Given the description of an element on the screen output the (x, y) to click on. 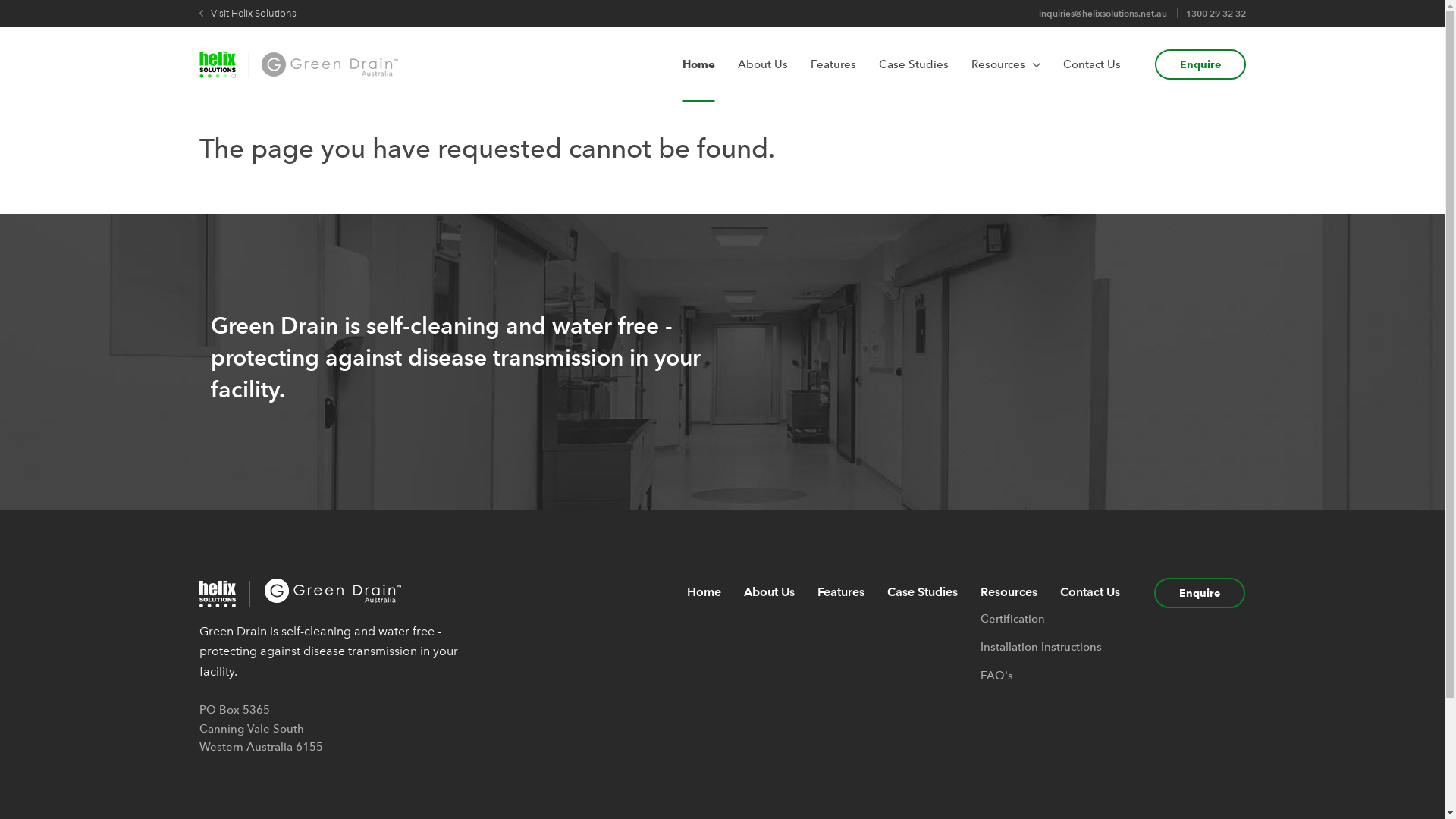
inquiries@helixsolutions.net.au Element type: text (1102, 13)
Features Element type: text (832, 64)
Green Drain Element type: text (332, 600)
Helix Solutions Element type: text (223, 593)
Case Studies Element type: text (912, 64)
Case Studies Element type: text (922, 591)
Resources Element type: text (1008, 591)
Installation Instructions Element type: text (1040, 646)
Features Element type: text (840, 591)
FAQ's Element type: text (996, 675)
Contact Us Element type: text (1090, 591)
Home Element type: text (704, 591)
Contact Us Element type: text (1091, 64)
Resources Element type: text (1004, 64)
About Us Element type: text (768, 591)
Visit Helix Solutions Element type: text (246, 13)
Enquire Element type: text (1199, 592)
About Us Element type: text (762, 64)
Enquire Element type: text (1199, 64)
Certification Element type: text (1012, 618)
1300 29 32 32 Element type: text (1215, 13)
Home Element type: text (698, 64)
